Given the description of an element on the screen output the (x, y) to click on. 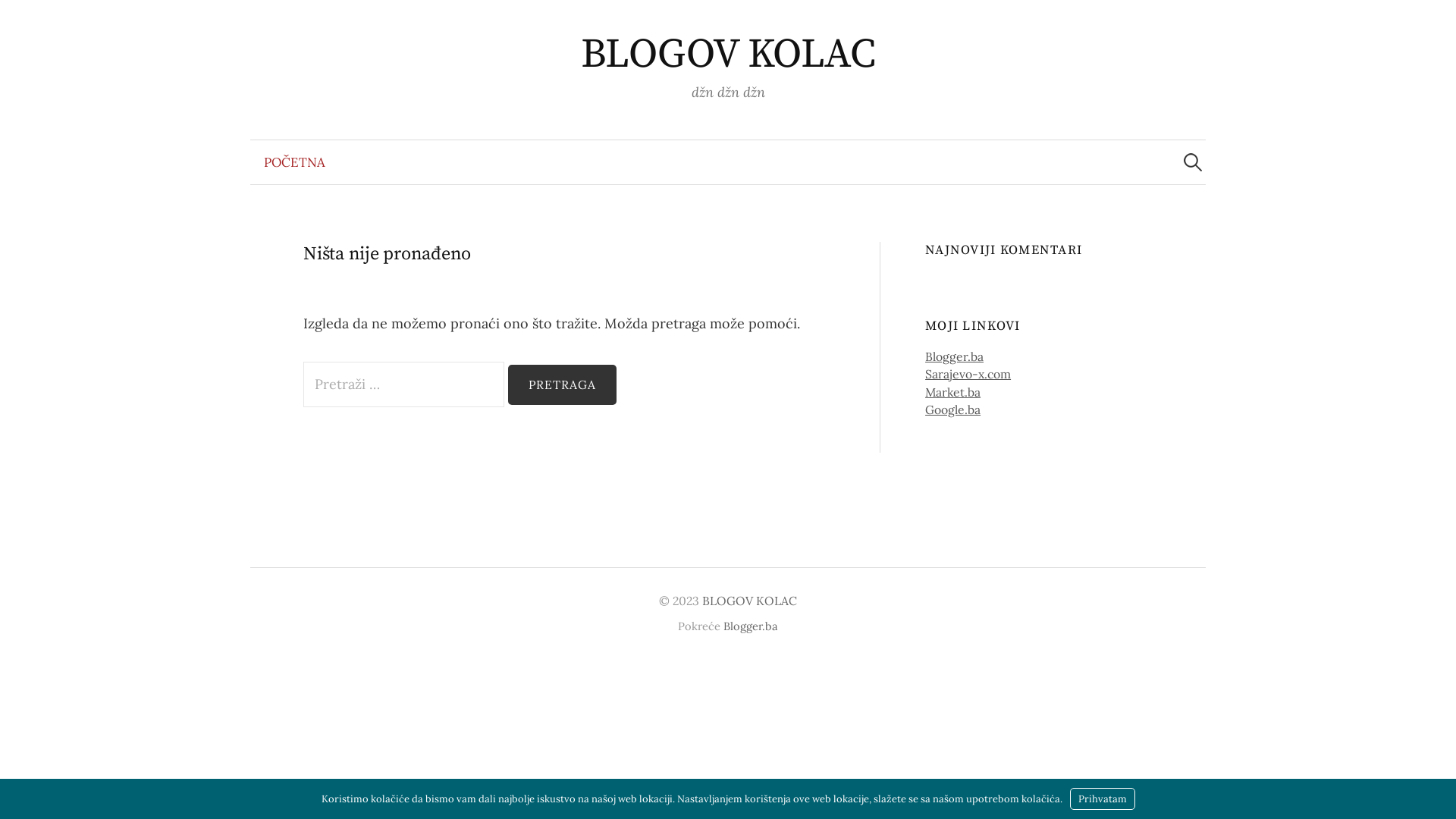
BLOGOV KOLAC Element type: text (727, 54)
Blogger.ba Element type: text (954, 356)
Sarajevo-x.com Element type: text (967, 373)
Pretraga Element type: text (562, 384)
Pretraga Element type: text (18, 18)
Google.ba Element type: text (952, 409)
Blogger.ba Element type: text (750, 625)
BLOGOV KOLAC Element type: text (749, 600)
Prihvatam Element type: text (1101, 798)
Market.ba Element type: text (952, 391)
